Given the description of an element on the screen output the (x, y) to click on. 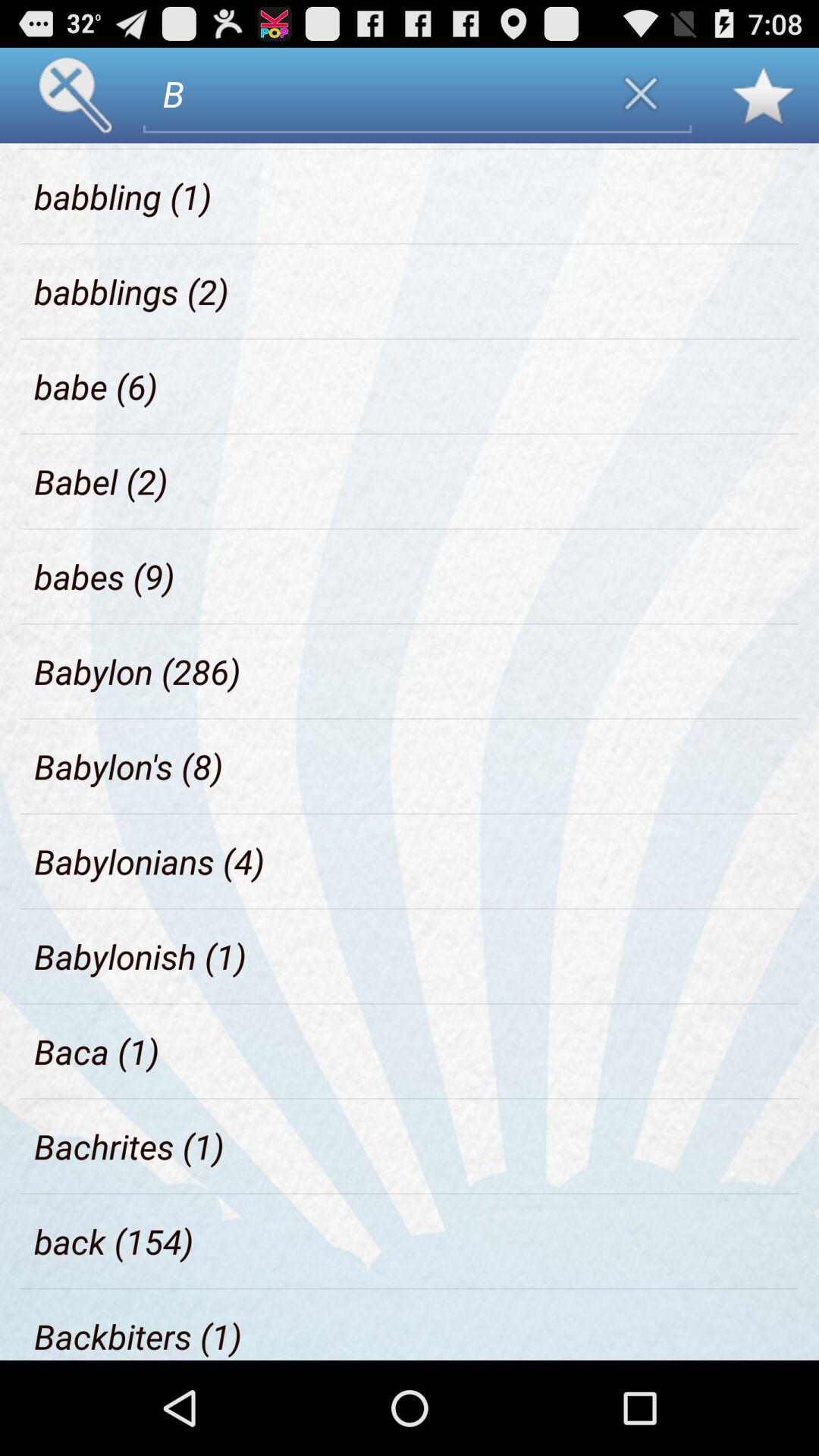
scroll to babes (9) app (104, 576)
